Given the description of an element on the screen output the (x, y) to click on. 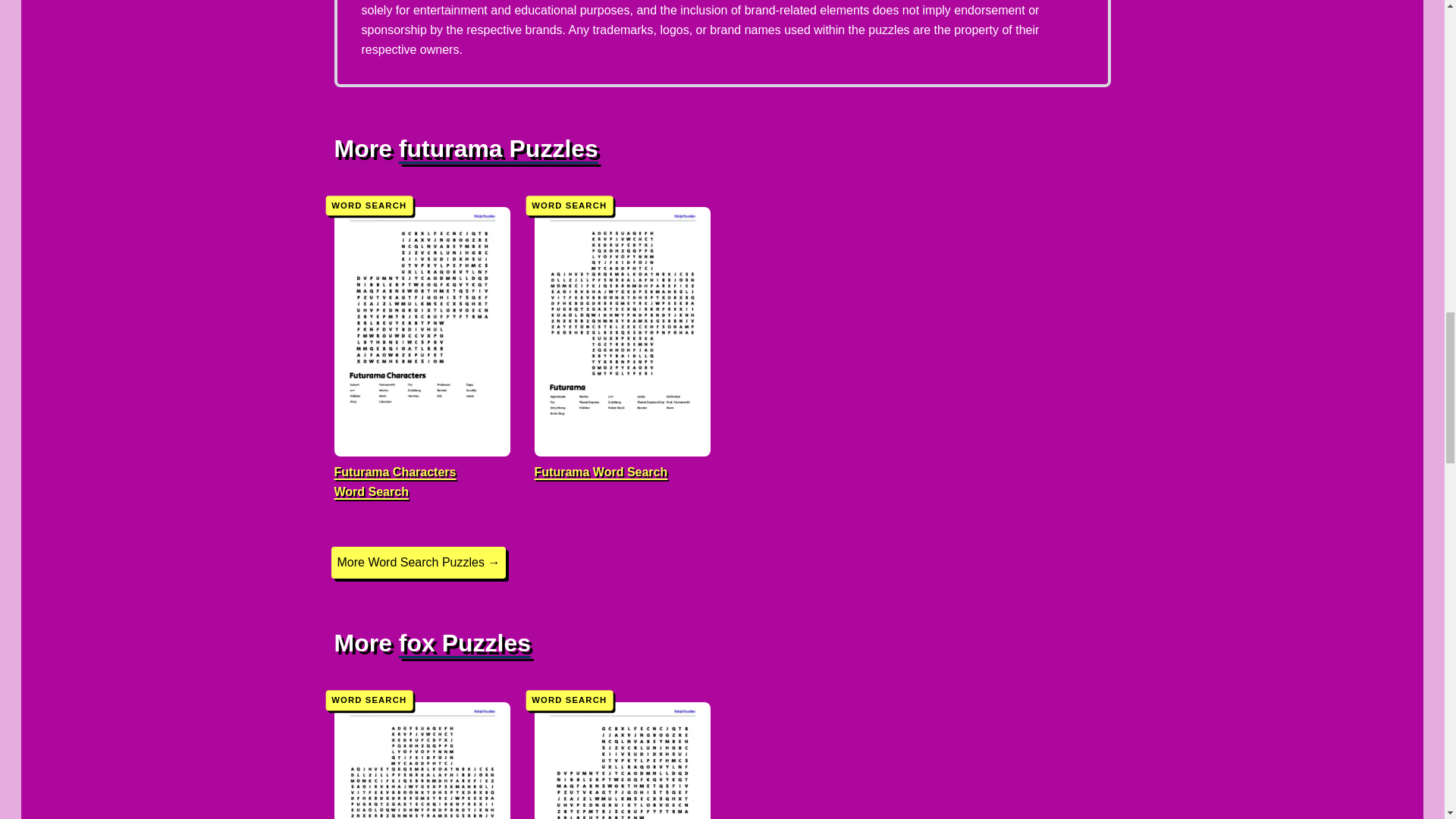
fox Puzzles (464, 642)
Free Printable Futurama themed Word Search Puzzle  Puzzle (421, 749)
futurama Puzzles (622, 749)
